Given the description of an element on the screen output the (x, y) to click on. 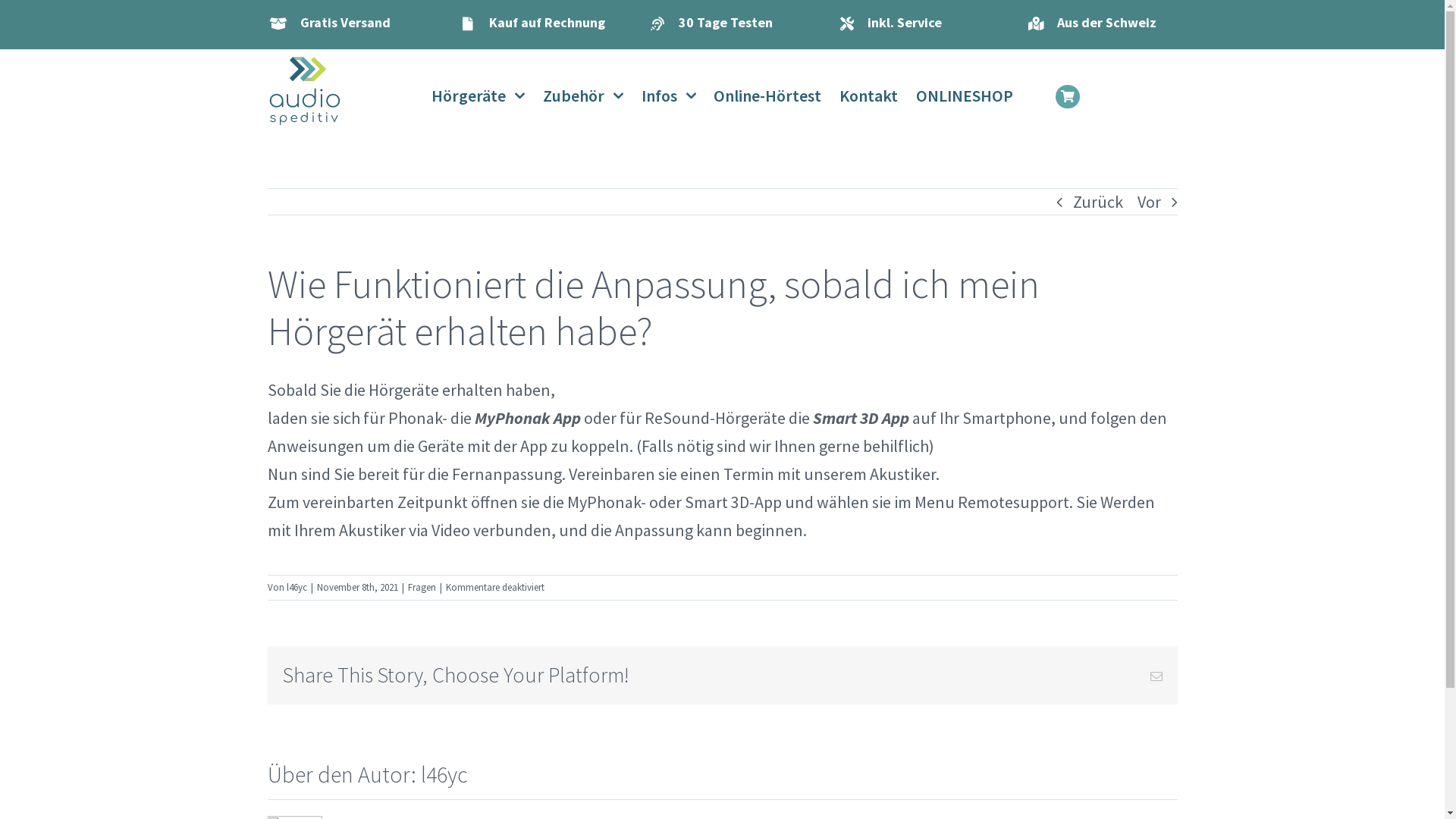
MyPhonak App Element type: text (527, 417)
Vor Element type: text (1149, 201)
Fragen Element type: text (421, 586)
Infos Element type: text (668, 95)
l46yc Element type: text (443, 773)
l46yc Element type: text (296, 586)
E-Mail Element type: text (1155, 676)
ONLINESHOP Element type: text (964, 95)
Kontakt Element type: text (868, 95)
Smart 3D App Element type: text (860, 417)
